Given the description of an element on the screen output the (x, y) to click on. 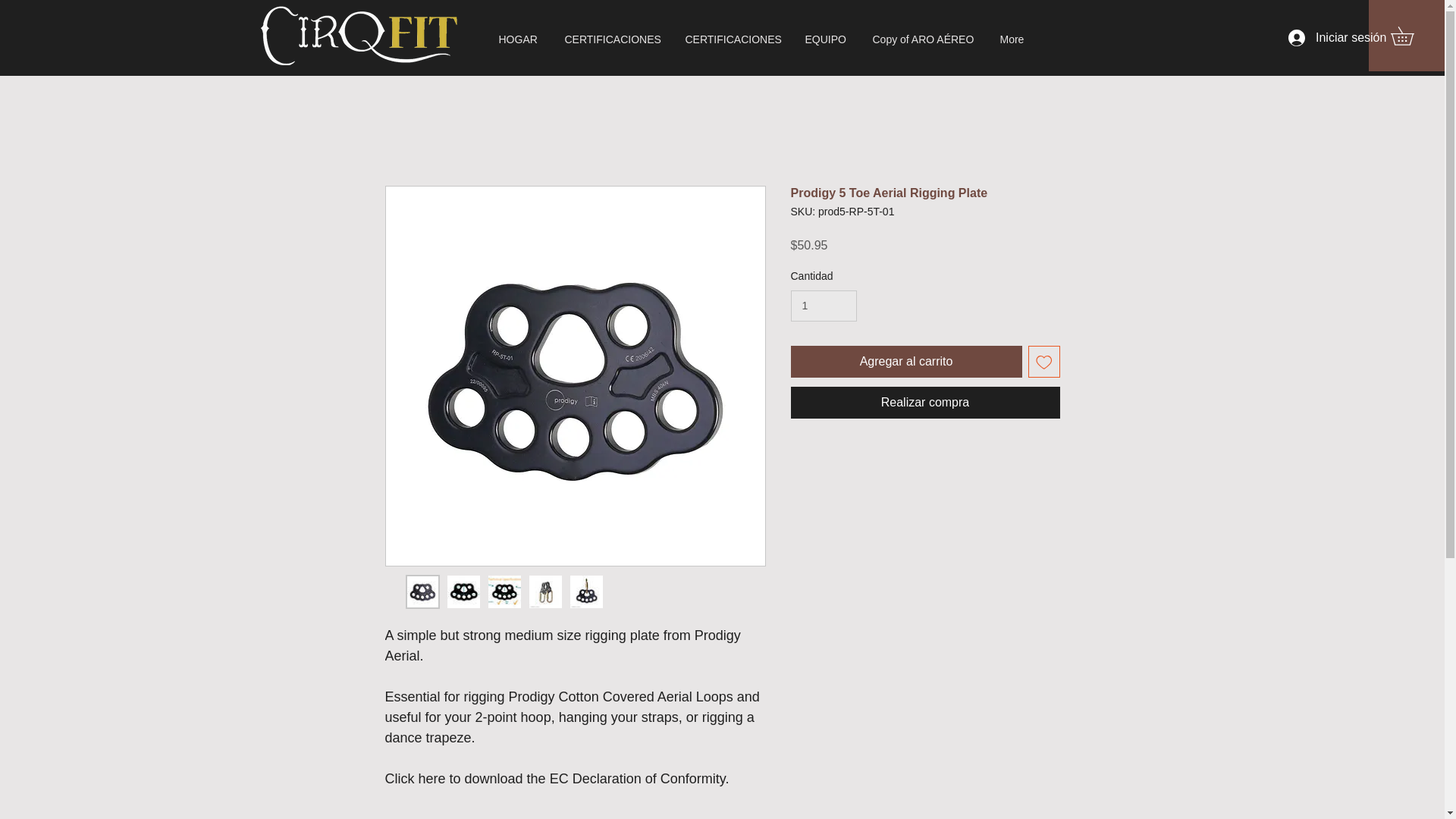
1 (823, 305)
CERTIFICACIONES (732, 39)
Agregar al carrito (906, 361)
CERTIFICACIONES (613, 39)
EQUIPO (826, 39)
HOGAR (519, 39)
Realizar compra (924, 402)
